Given the description of an element on the screen output the (x, y) to click on. 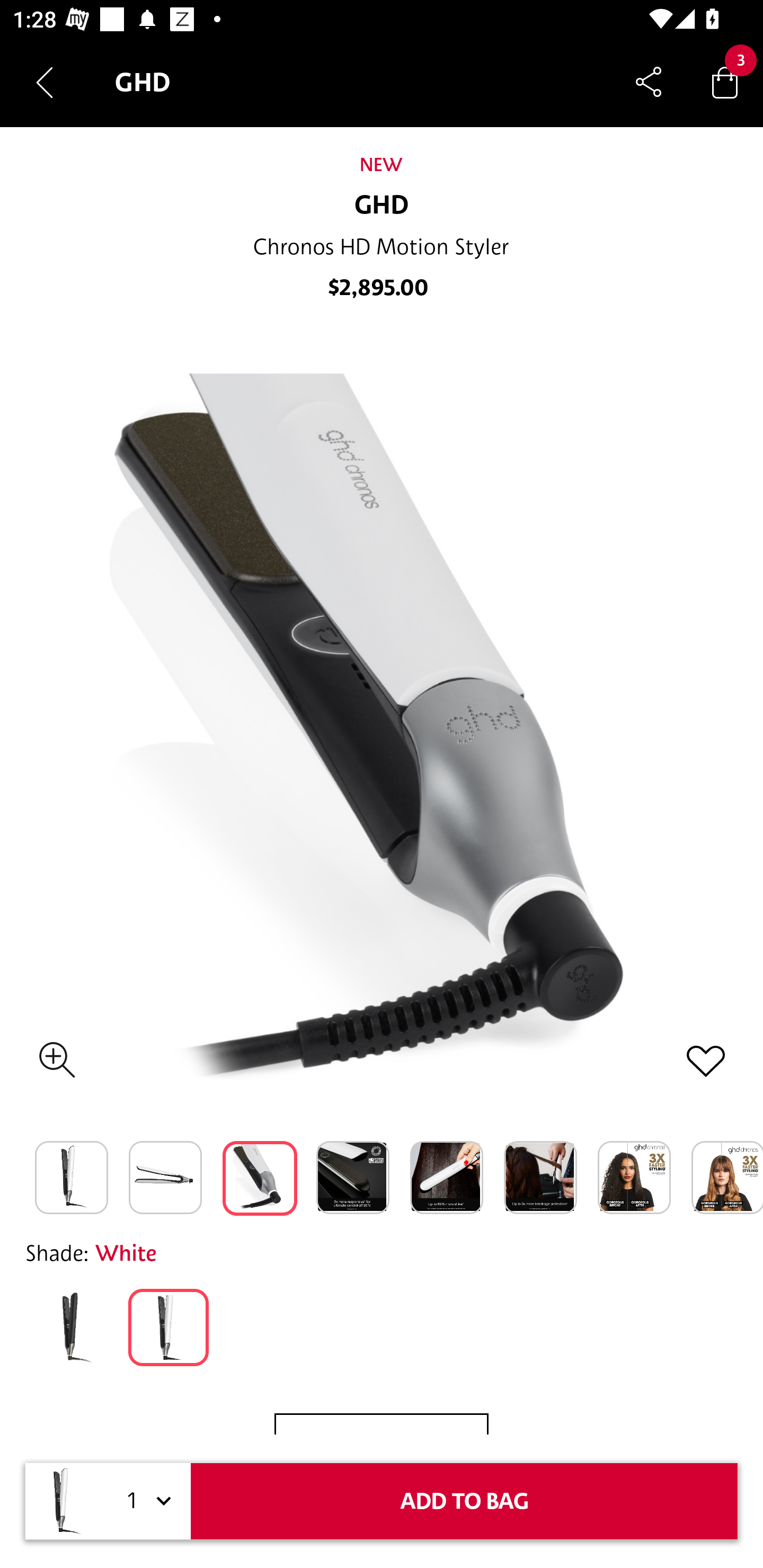
Navigate up (44, 82)
Share (648, 81)
Bag (724, 81)
GHD (381, 205)
1 (145, 1500)
ADD TO BAG (463, 1500)
